Given the description of an element on the screen output the (x, y) to click on. 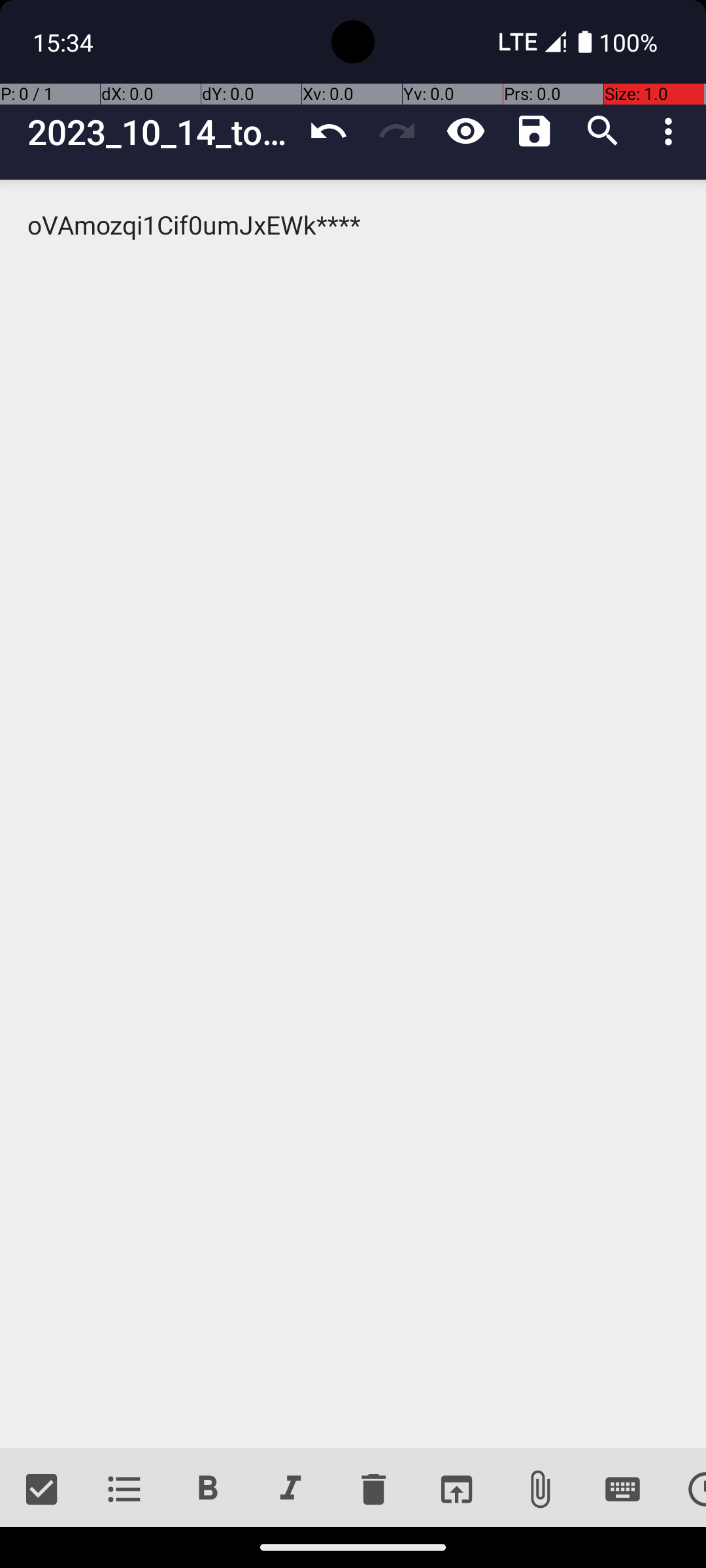
2023_10_14_tough_mouse_2023_04_01 Element type: android.widget.TextView (160, 131)
oVAmozqi1Cif0umJxEWk**** Element type: android.widget.EditText (353, 813)
